Given the description of an element on the screen output the (x, y) to click on. 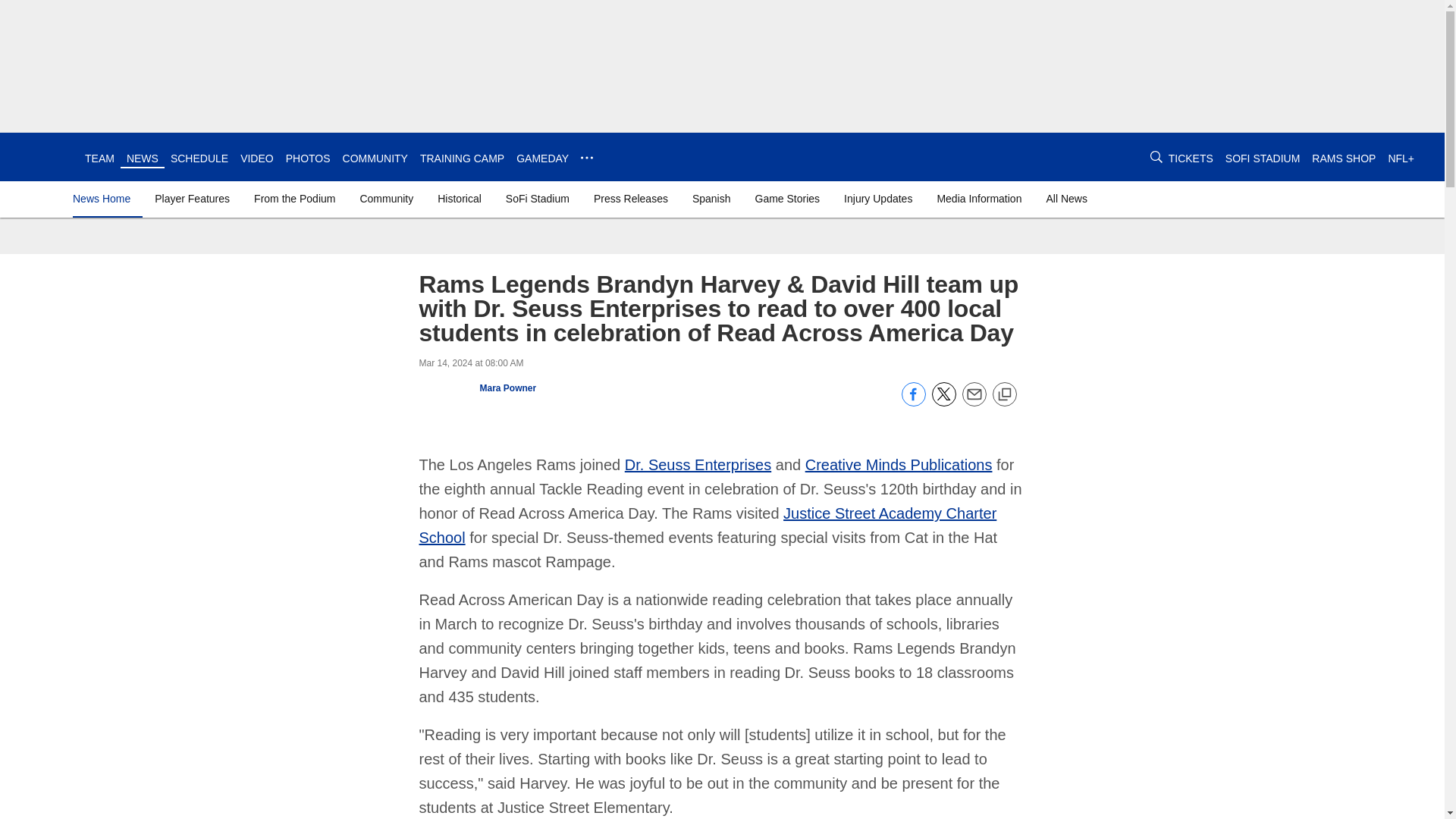
News Home (104, 198)
Historical (458, 198)
Media Information (978, 198)
TRAINING CAMP (461, 158)
Link to club's homepage (42, 156)
From the Podium (293, 198)
VIDEO (256, 158)
... (586, 157)
NEWS (142, 158)
SCHEDULE (199, 158)
RAMS SHOP (1343, 158)
All News (1066, 198)
Injury Updates (878, 198)
Spanish (710, 198)
TEAM (99, 158)
